Given the description of an element on the screen output the (x, y) to click on. 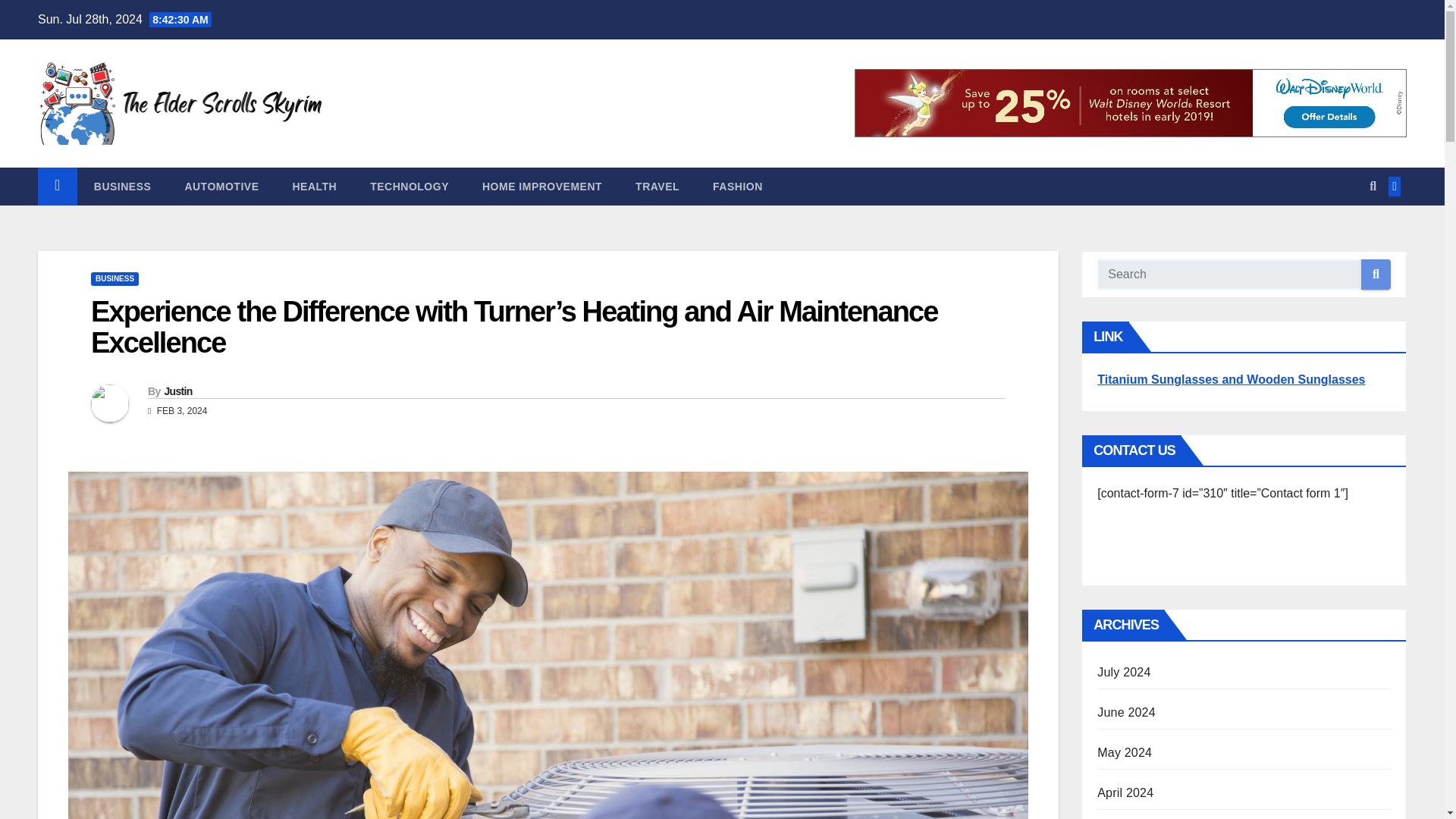
Automotive (221, 186)
Home Improvement (541, 186)
HEALTH (314, 186)
BUSINESS (114, 278)
Travel (656, 186)
FASHION (736, 186)
Health (314, 186)
AUTOMOTIVE (221, 186)
Fashion (736, 186)
Business (122, 186)
TECHNOLOGY (409, 186)
Technology (409, 186)
Justin (177, 390)
BUSINESS (122, 186)
HOME IMPROVEMENT (541, 186)
